Given the description of an element on the screen output the (x, y) to click on. 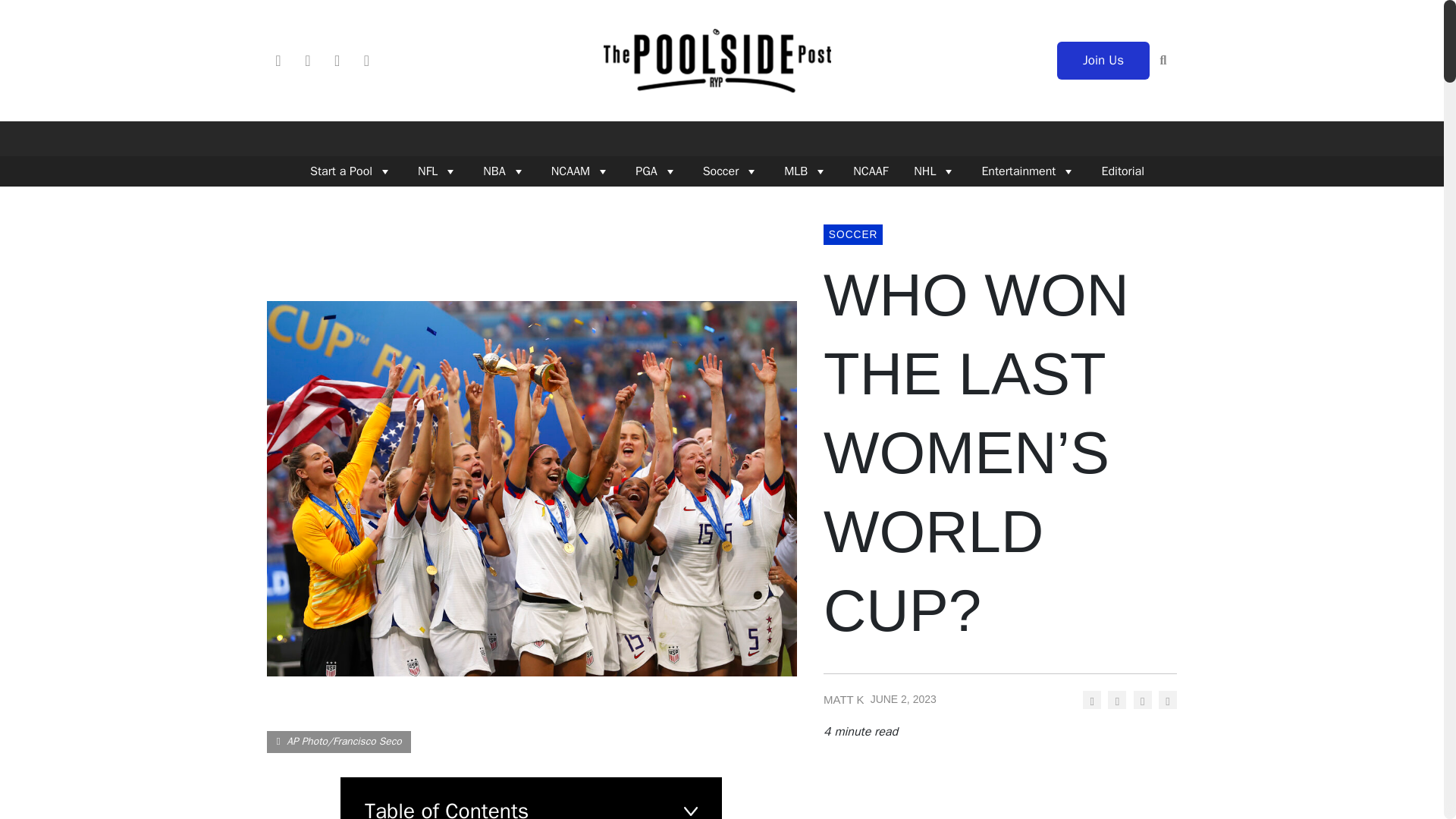
Join Us (1103, 60)
Start a Pool (345, 171)
NFL (431, 171)
